Given the description of an element on the screen output the (x, y) to click on. 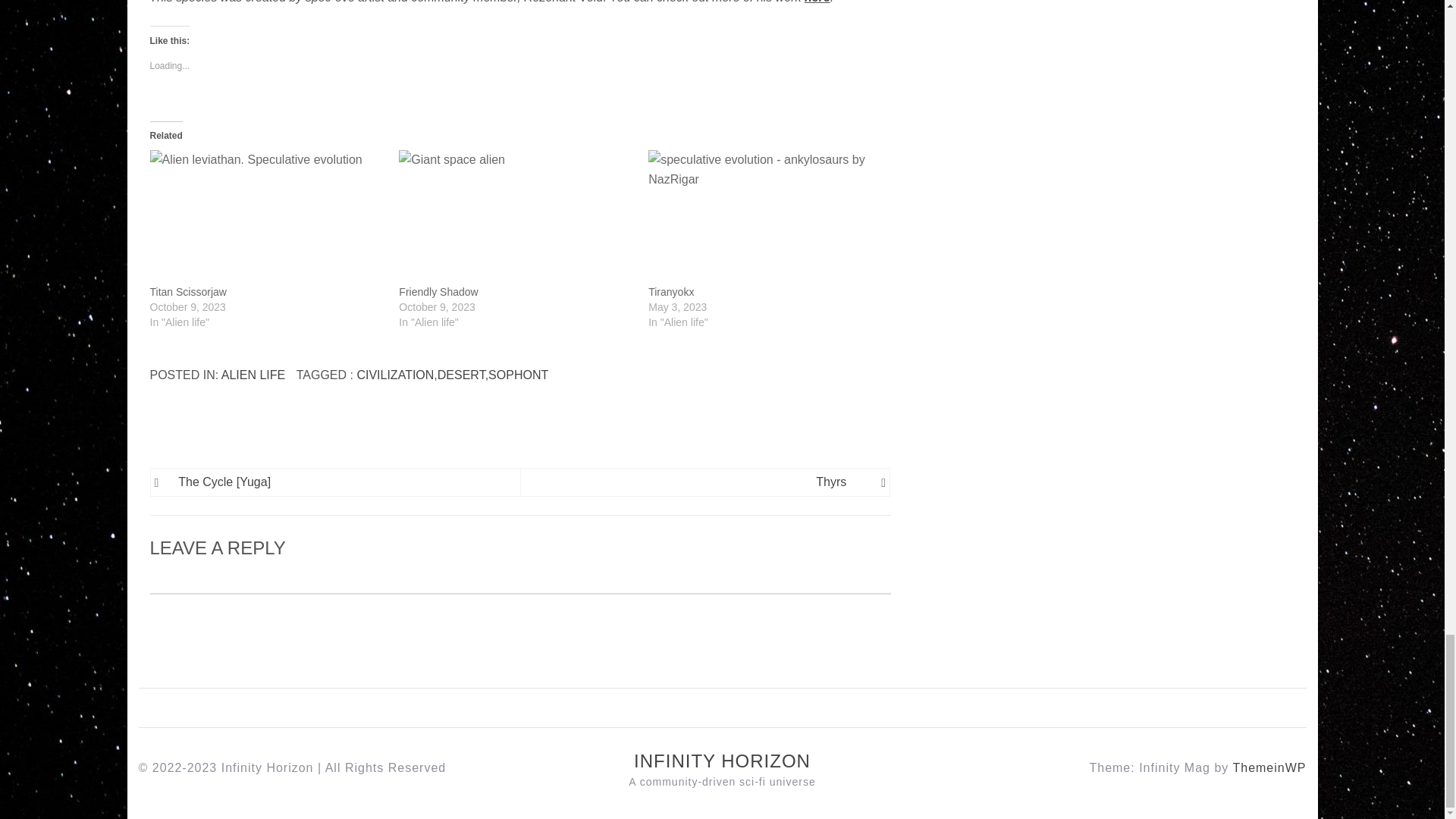
Thyrs (691, 482)
Tiranyokx (670, 291)
Titan Scissorjaw (266, 216)
DESERT (461, 374)
Tiranyokx (670, 291)
CIVILIZATION (394, 374)
Titan Scissorjaw (188, 291)
Friendly Shadow (515, 216)
Titan Scissorjaw (188, 291)
ALIEN LIFE (253, 374)
Tiranyokx (764, 216)
SOPHONT (517, 374)
Friendly Shadow (437, 291)
here (817, 2)
